Given the description of an element on the screen output the (x, y) to click on. 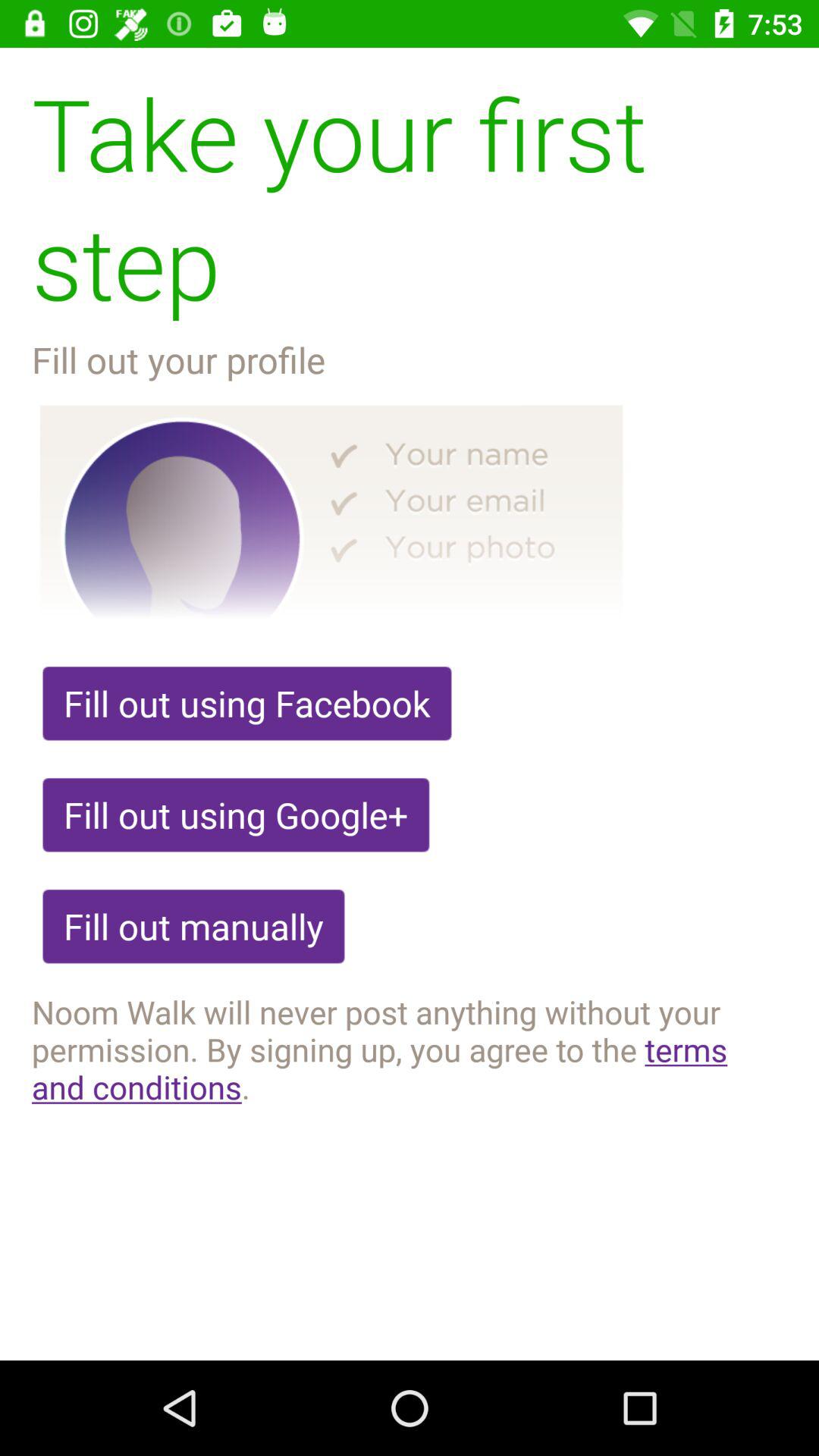
turn on the item below the fill out manually item (409, 1049)
